Given the description of an element on the screen output the (x, y) to click on. 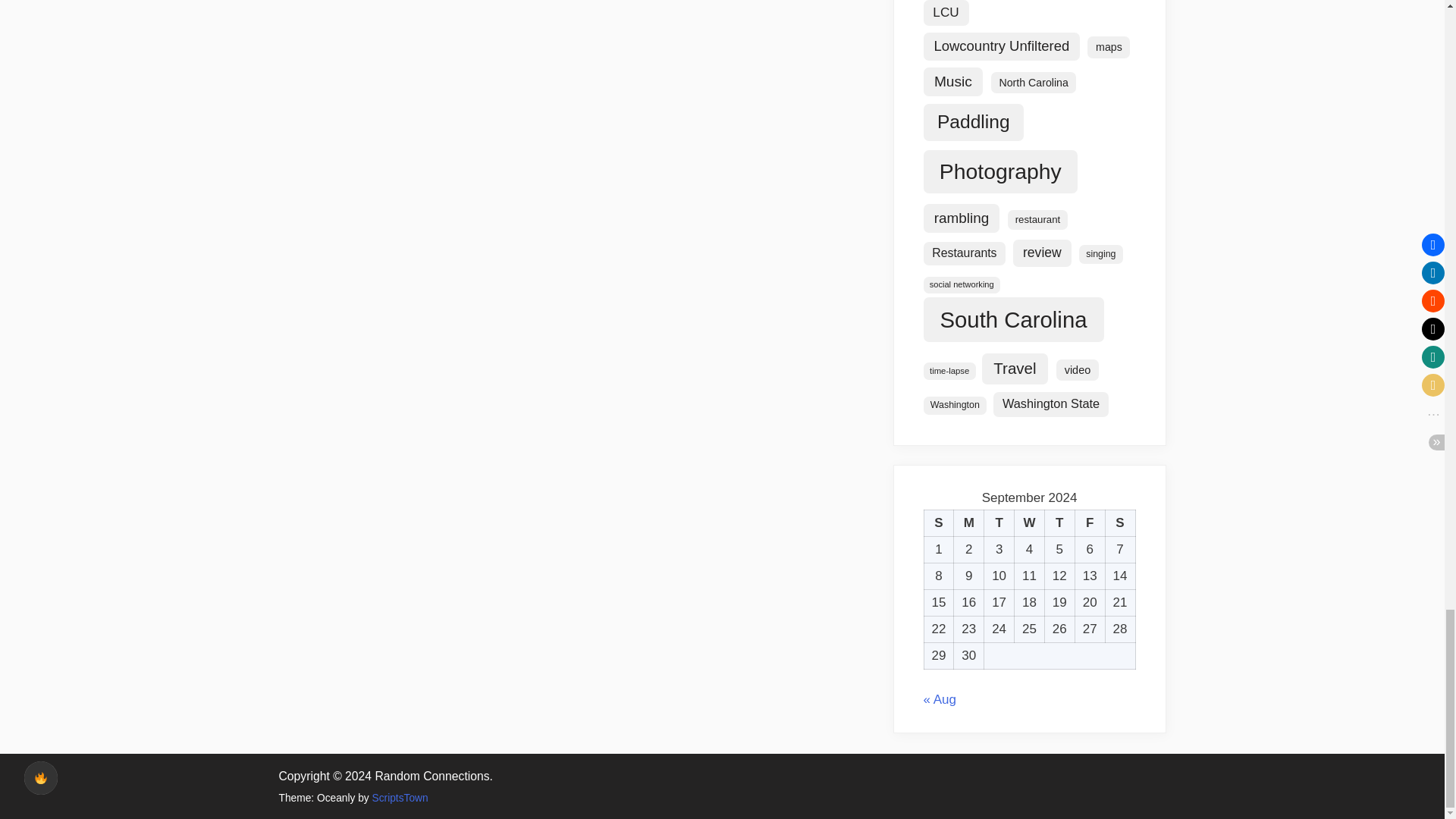
Saturday (1120, 523)
Friday (1089, 523)
Monday (968, 523)
Tuesday (999, 523)
Sunday (938, 523)
Wednesday (1029, 523)
Thursday (1058, 523)
